Given the description of an element on the screen output the (x, y) to click on. 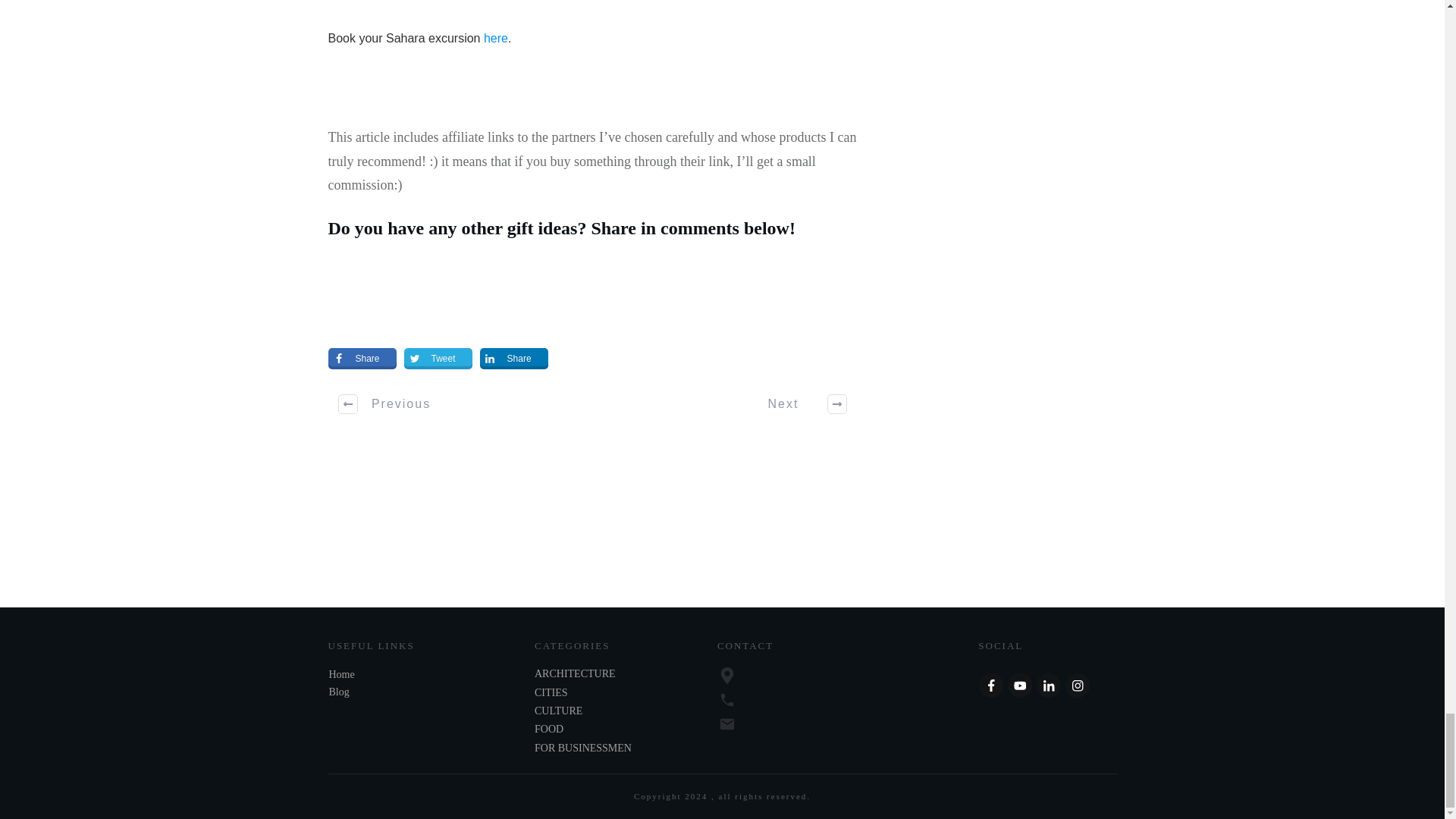
here (495, 38)
Previous (385, 403)
Next (798, 403)
Tweet (437, 358)
Share (514, 358)
Share (361, 358)
